Given the description of an element on the screen output the (x, y) to click on. 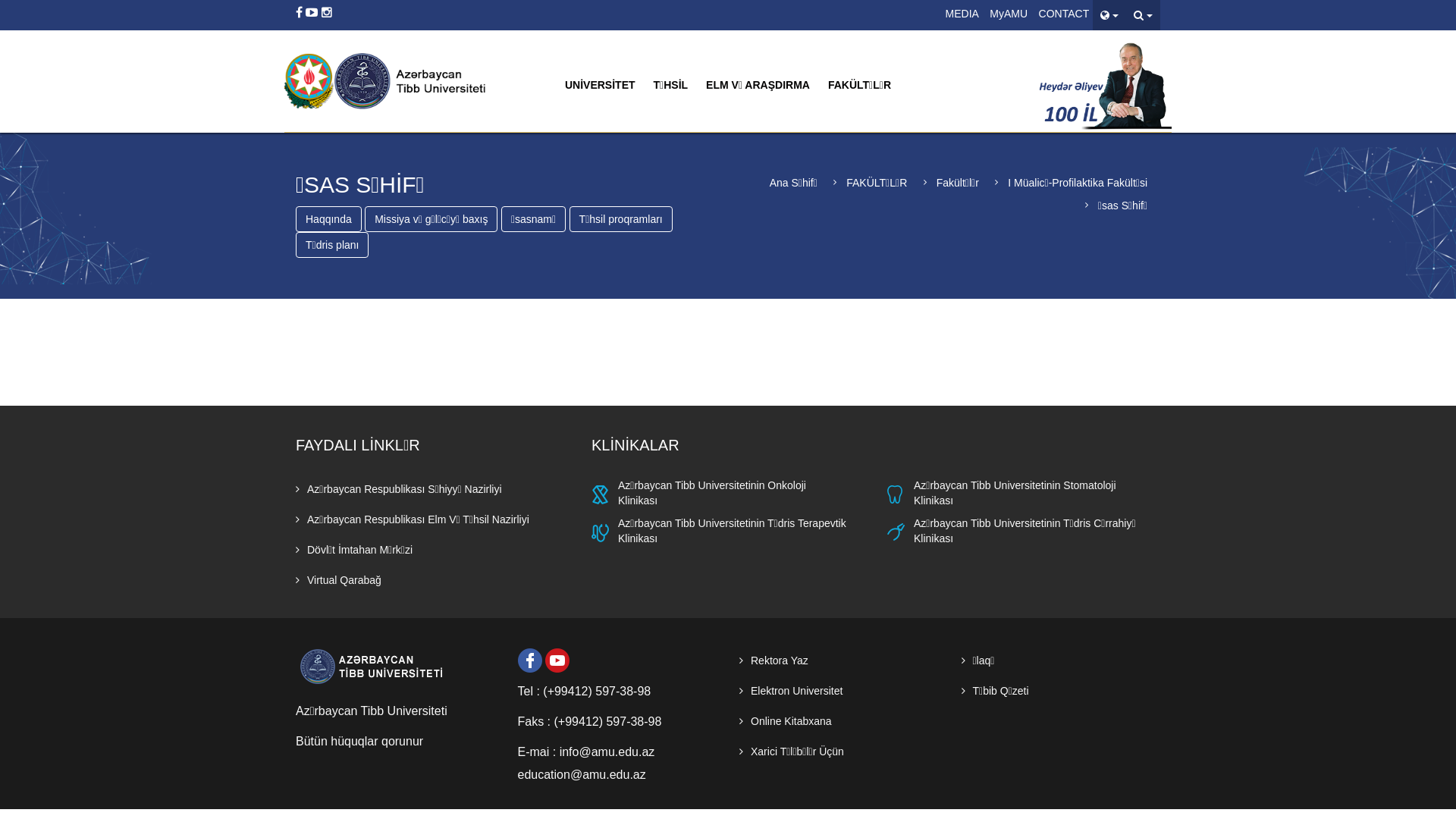
Elektron Universitet Element type: text (790, 690)
MyAMU Element type: text (1008, 12)
info@amu.edu.az education@amu.edu.az Element type: text (585, 763)
MEDIA Element type: text (961, 12)
Rektora Yaz Element type: text (773, 660)
(+99412) 597-38-98 Element type: text (596, 690)
Online Kitabxana Element type: text (785, 721)
CONTACT Element type: text (1064, 12)
